Given the description of an element on the screen output the (x, y) to click on. 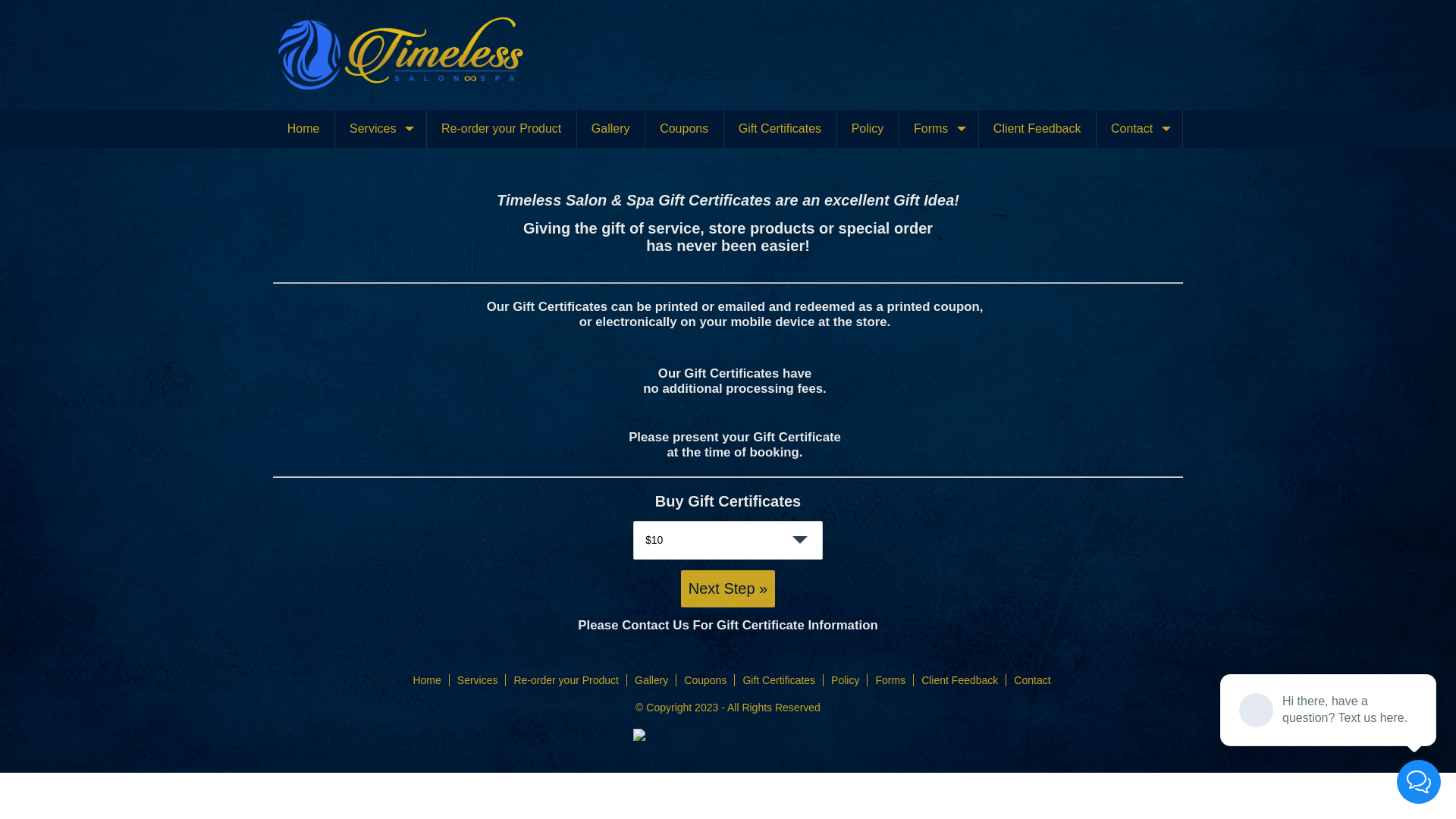
Gift Certificates Element type: text (778, 680)
Re-order your Product Element type: text (500, 128)
Gift Certificates Element type: text (779, 128)
Gallery Element type: text (610, 128)
Client Feedback Element type: text (1037, 128)
Home Element type: text (303, 128)
Policy Element type: text (845, 680)
Home Element type: text (426, 680)
Contact Element type: text (1031, 680)
Client Feedback Element type: text (959, 680)
Re-order your Product Element type: text (565, 680)
Forms Element type: text (938, 128)
Contact Element type: text (1139, 128)
Coupons Element type: text (705, 680)
Forms Element type: text (890, 680)
Coupons Element type: text (683, 128)
Services Element type: text (477, 680)
Gallery Element type: text (651, 680)
Policy Element type: text (867, 128)
Services Element type: text (380, 128)
